Given the description of an element on the screen output the (x, y) to click on. 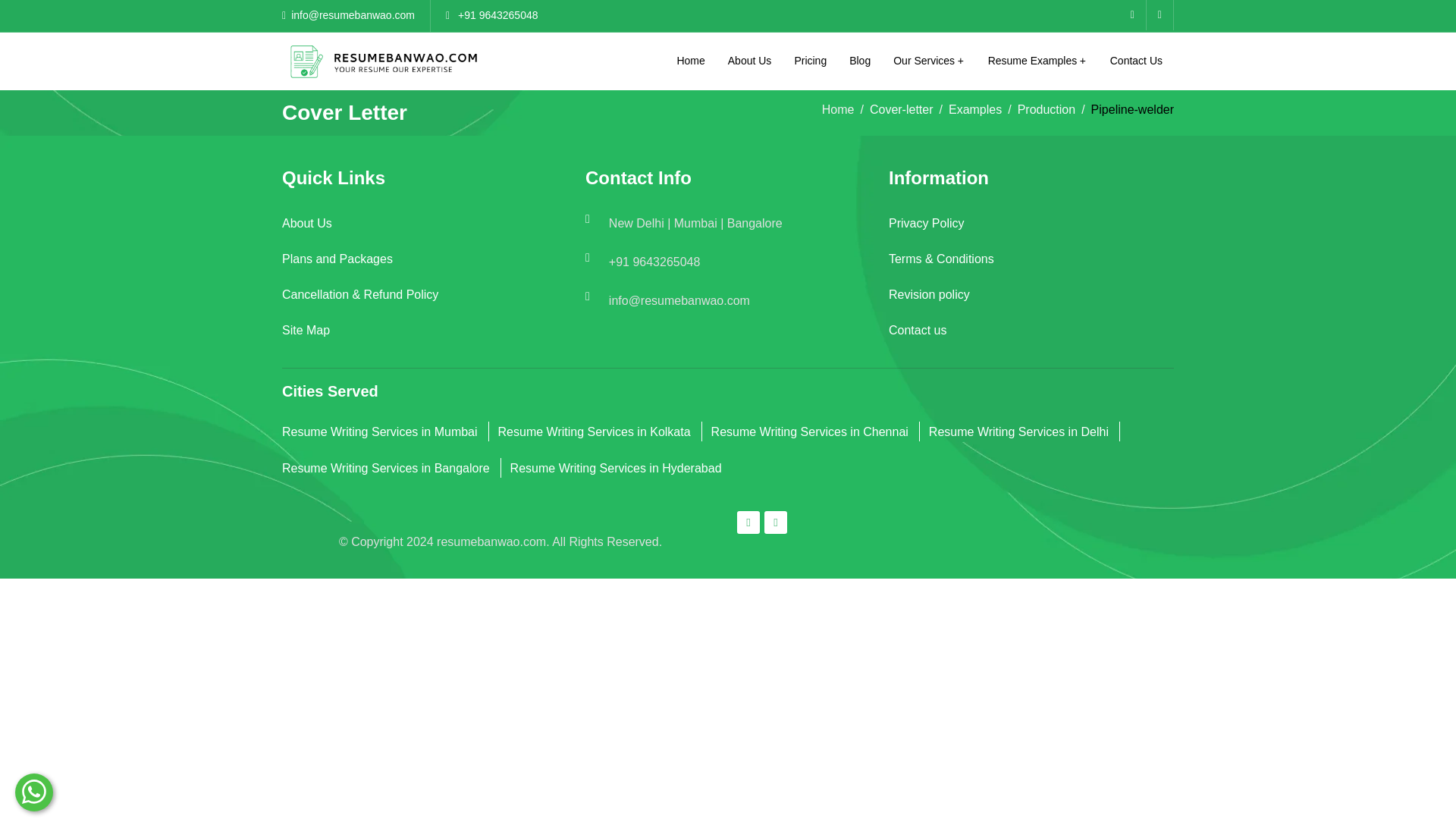
Pricing (810, 61)
Home (690, 61)
Cover-letter (901, 109)
Home (838, 109)
Resume Writing Services in Delhi (1018, 439)
Revision policy (1030, 302)
Resume Writing Services in Chennai (809, 439)
Resume Writing Services in Mumbai (379, 439)
Contact us (1030, 337)
Site Map (424, 337)
Our Services (928, 61)
Plans and Packages (424, 266)
Resume Writing Services in Kolkata (593, 439)
About Us (424, 230)
Examples (975, 109)
